Given the description of an element on the screen output the (x, y) to click on. 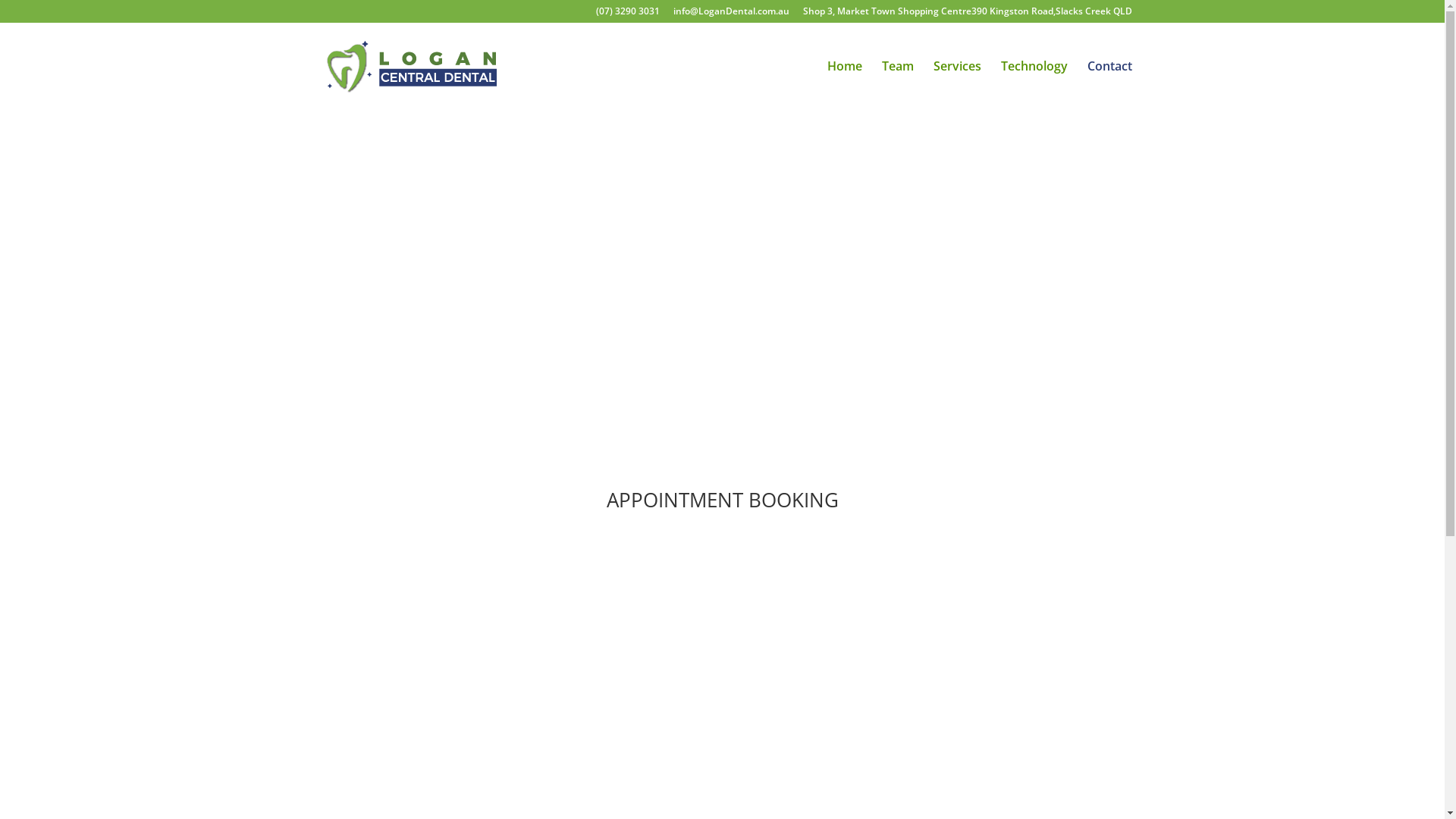
Services Element type: text (956, 84)
(07) 3290 3031 Element type: text (627, 14)
Contact Element type: text (1109, 84)
Home Element type: text (843, 84)
Technology Element type: text (1034, 84)
info@LoganDental.com.au Element type: text (731, 14)
Team Element type: text (897, 84)
